Given the description of an element on the screen output the (x, y) to click on. 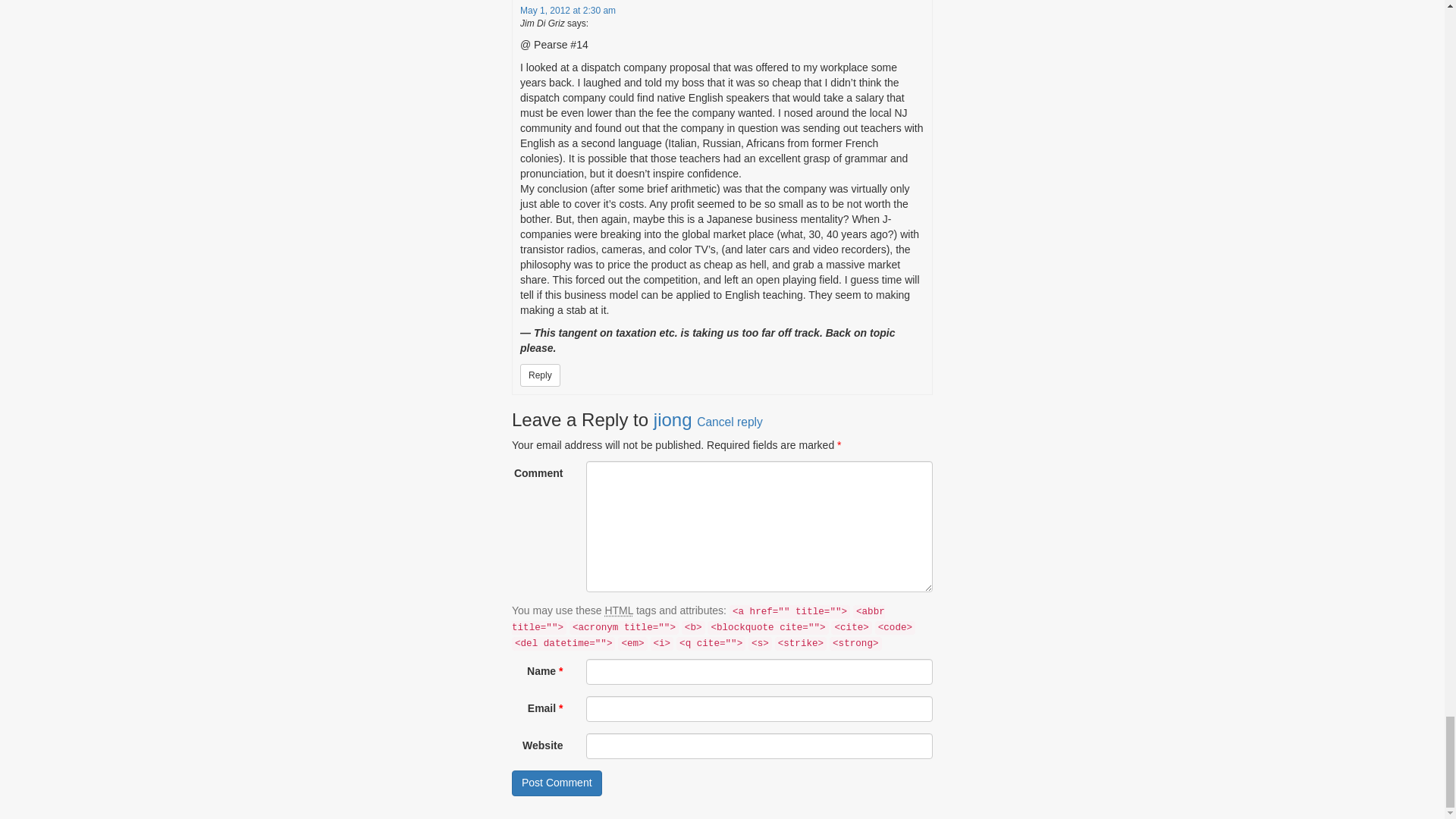
Post Comment (557, 783)
